Given the description of an element on the screen output the (x, y) to click on. 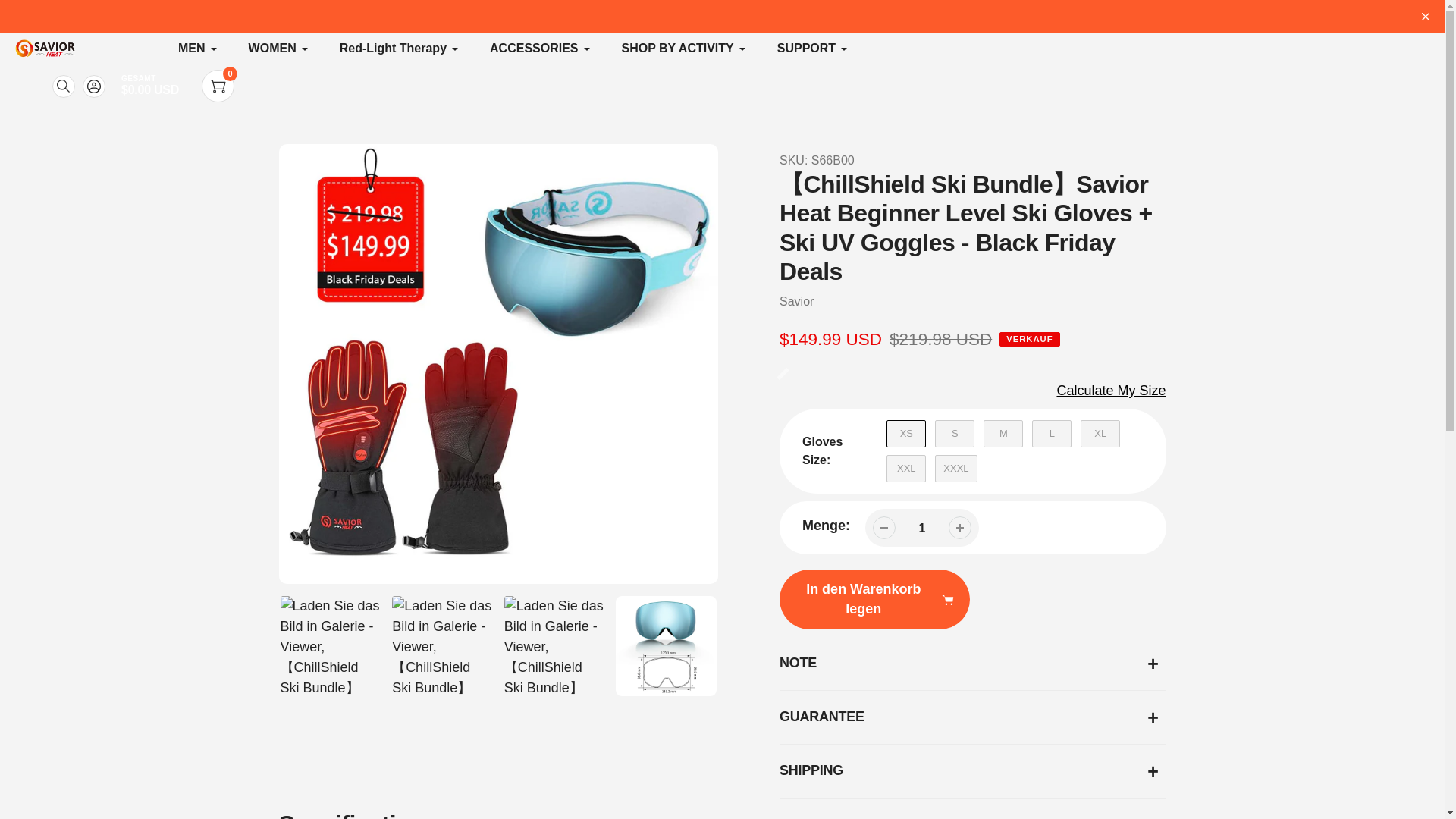
Red-Light Therapy (399, 48)
WOMEN (278, 48)
MEN (197, 48)
Savior (795, 300)
ACCESSORIES (540, 48)
1 (922, 527)
